Given the description of an element on the screen output the (x, y) to click on. 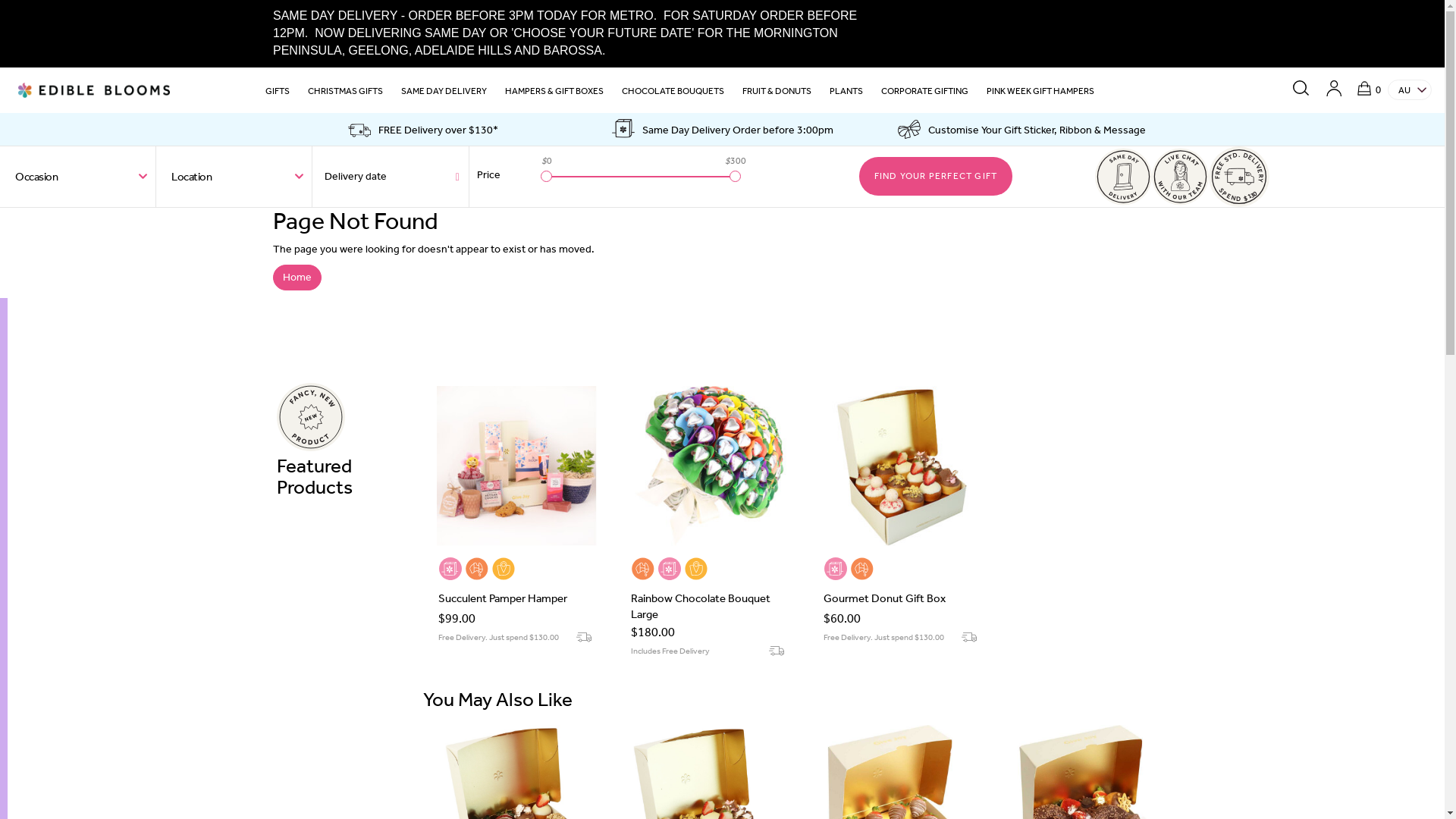
FIND YOUR PERFECT GIFT Element type: text (937, 176)
SAME DAY DELIVERY Element type: text (443, 93)
CHOCOLATE BOUQUETS Element type: text (672, 93)
CORPORATE GIFTING Element type: text (924, 93)
Home Element type: text (297, 277)
0 Element type: text (1360, 86)
You May Also Like Element type: text (803, 699)
Edible Blooms Element type: hover (93, 88)
AU Element type: text (1409, 89)
FRUIT & DONUTS Element type: text (776, 93)
CHRISTMAS GIFTS Element type: text (344, 93)
Location Element type: text (233, 176)
Occasion Element type: text (77, 176)
FIND YOUR PERFECT GIFT Element type: text (935, 175)
Login Element type: hover (1334, 86)
PLANTS Element type: text (845, 93)
GIFTS Element type: text (277, 93)
HAMPERS & GIFT BOXES Element type: text (554, 93)
PINK WEEK GIFT HAMPERS Element type: text (1040, 93)
